Given the description of an element on the screen output the (x, y) to click on. 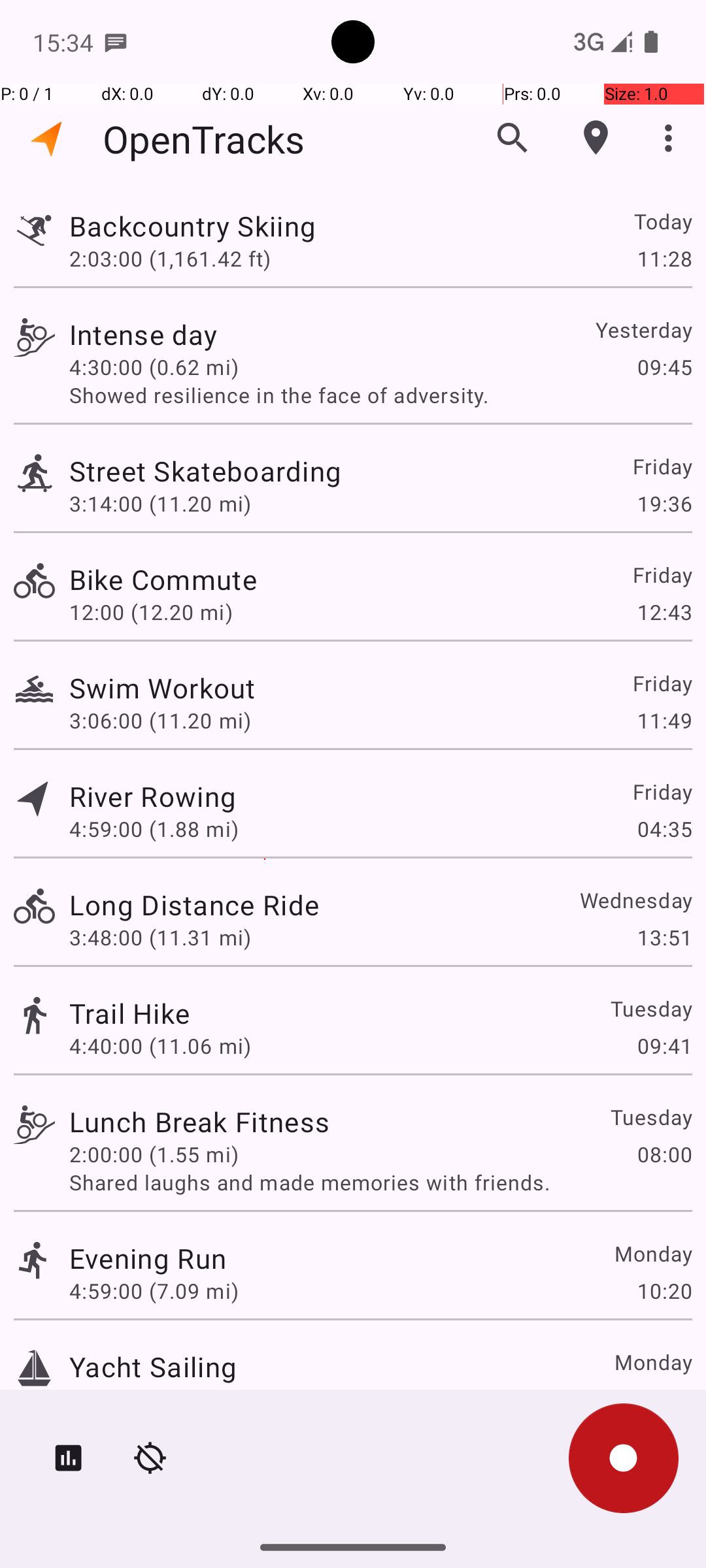
OpenTracks Element type: android.widget.TextView (203, 138)
Markers Element type: android.widget.Button (595, 137)
Record Element type: android.widget.ImageButton (623, 1458)
Track Element type: android.widget.ImageView (33, 227)
Backcountry Skiing Element type: android.widget.TextView (192, 225)
Today Element type: android.widget.TextView (662, 221)
2:03:00 (1,161.42 ft) Element type: android.widget.TextView (169, 258)
11:28 Element type: android.widget.TextView (664, 258)
Intense day Element type: android.widget.TextView (143, 333)
Yesterday Element type: android.widget.TextView (643, 329)
4:30:00 (0.62 mi) Element type: android.widget.TextView (153, 366)
09:45 Element type: android.widget.TextView (664, 366)
Showed resilience in the face of adversity. Element type: android.widget.TextView (380, 394)
Street Skateboarding Element type: android.widget.TextView (204, 470)
Friday Element type: android.widget.TextView (661, 466)
3:14:00 (11.20 mi) Element type: android.widget.TextView (159, 503)
19:36 Element type: android.widget.TextView (664, 503)
Bike Commute Element type: android.widget.TextView (162, 578)
12:00 (12.20 mi) Element type: android.widget.TextView (150, 611)
12:43 Element type: android.widget.TextView (664, 611)
Swim Workout Element type: android.widget.TextView (162, 687)
3:06:00 (11.20 mi) Element type: android.widget.TextView (159, 720)
11:49 Element type: android.widget.TextView (664, 720)
River Rowing Element type: android.widget.TextView (152, 795)
4:59:00 (1.88 mi) Element type: android.widget.TextView (153, 828)
04:35 Element type: android.widget.TextView (664, 828)
Long Distance Ride Element type: android.widget.TextView (193, 904)
Wednesday Element type: android.widget.TextView (635, 899)
3:48:00 (11.31 mi) Element type: android.widget.TextView (159, 937)
13:51 Element type: android.widget.TextView (664, 937)
Trail Hike Element type: android.widget.TextView (129, 1012)
Tuesday Element type: android.widget.TextView (650, 1008)
4:40:00 (11.06 mi) Element type: android.widget.TextView (159, 1045)
09:41 Element type: android.widget.TextView (664, 1045)
Lunch Break Fitness Element type: android.widget.TextView (199, 1121)
2:00:00 (1.55 mi) Element type: android.widget.TextView (153, 1154)
08:00 Element type: android.widget.TextView (664, 1154)
Shared laughs and made memories with friends. Element type: android.widget.TextView (380, 1182)
Evening Run Element type: android.widget.TextView (147, 1257)
Monday Element type: android.widget.TextView (652, 1253)
4:59:00 (7.09 mi) Element type: android.widget.TextView (153, 1290)
10:20 Element type: android.widget.TextView (664, 1290)
Yacht Sailing Element type: android.widget.TextView (152, 1366)
06:00 (11.36 mi) Element type: android.widget.TextView (150, 1399)
09:14 Element type: android.widget.TextView (664, 1399)
